Given the description of an element on the screen output the (x, y) to click on. 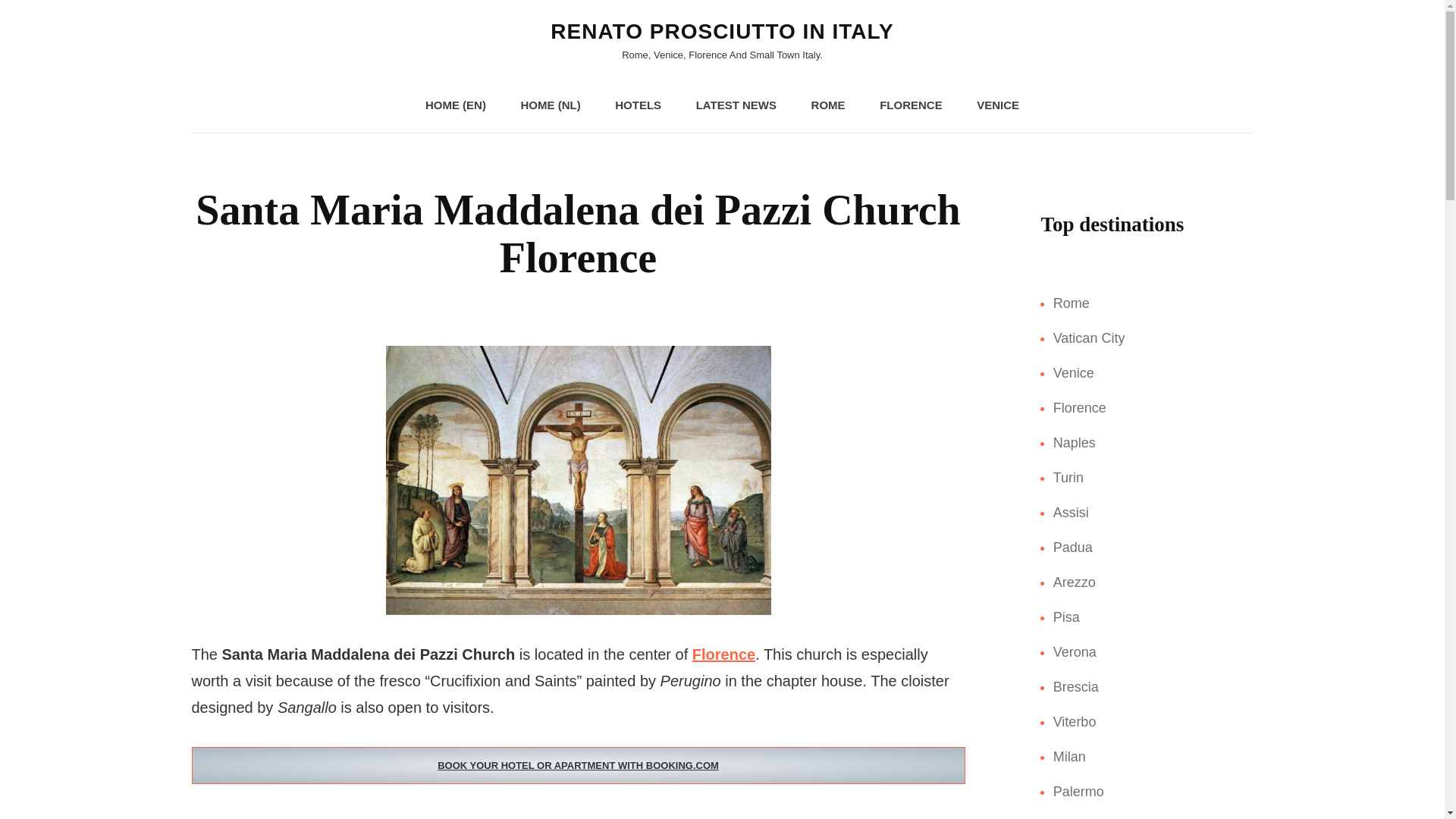
LATEST NEWS (736, 104)
HOTELS (638, 104)
ROME (828, 104)
VENICE (996, 104)
Florence (724, 654)
RENATO PROSCIUTTO IN ITALY (721, 31)
FLORENCE (911, 104)
BOOK YOUR HOTEL OR APARTMENT WITH BOOKING.COM (576, 765)
